Given the description of an element on the screen output the (x, y) to click on. 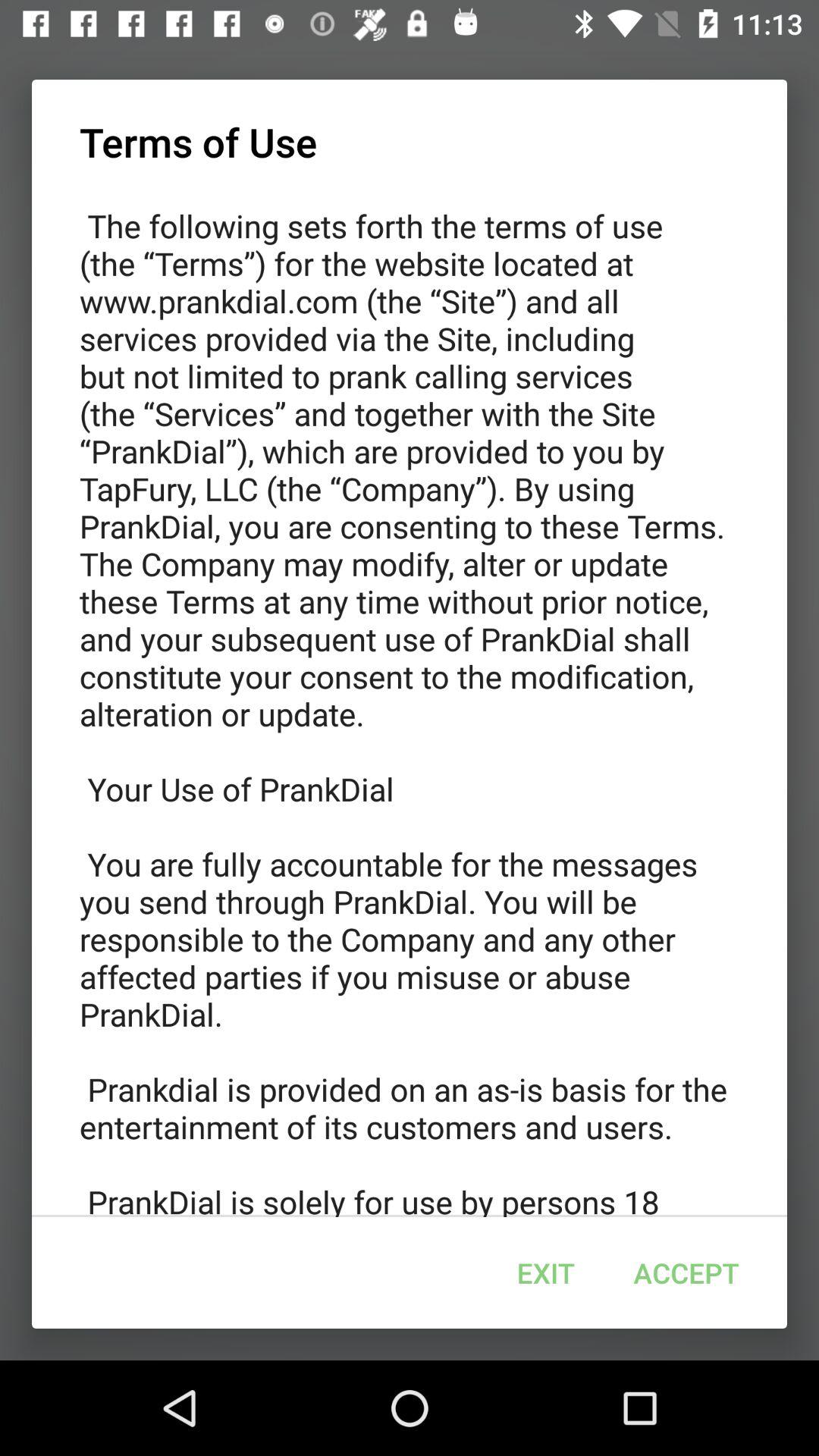
press item below the following sets item (686, 1272)
